Given the description of an element on the screen output the (x, y) to click on. 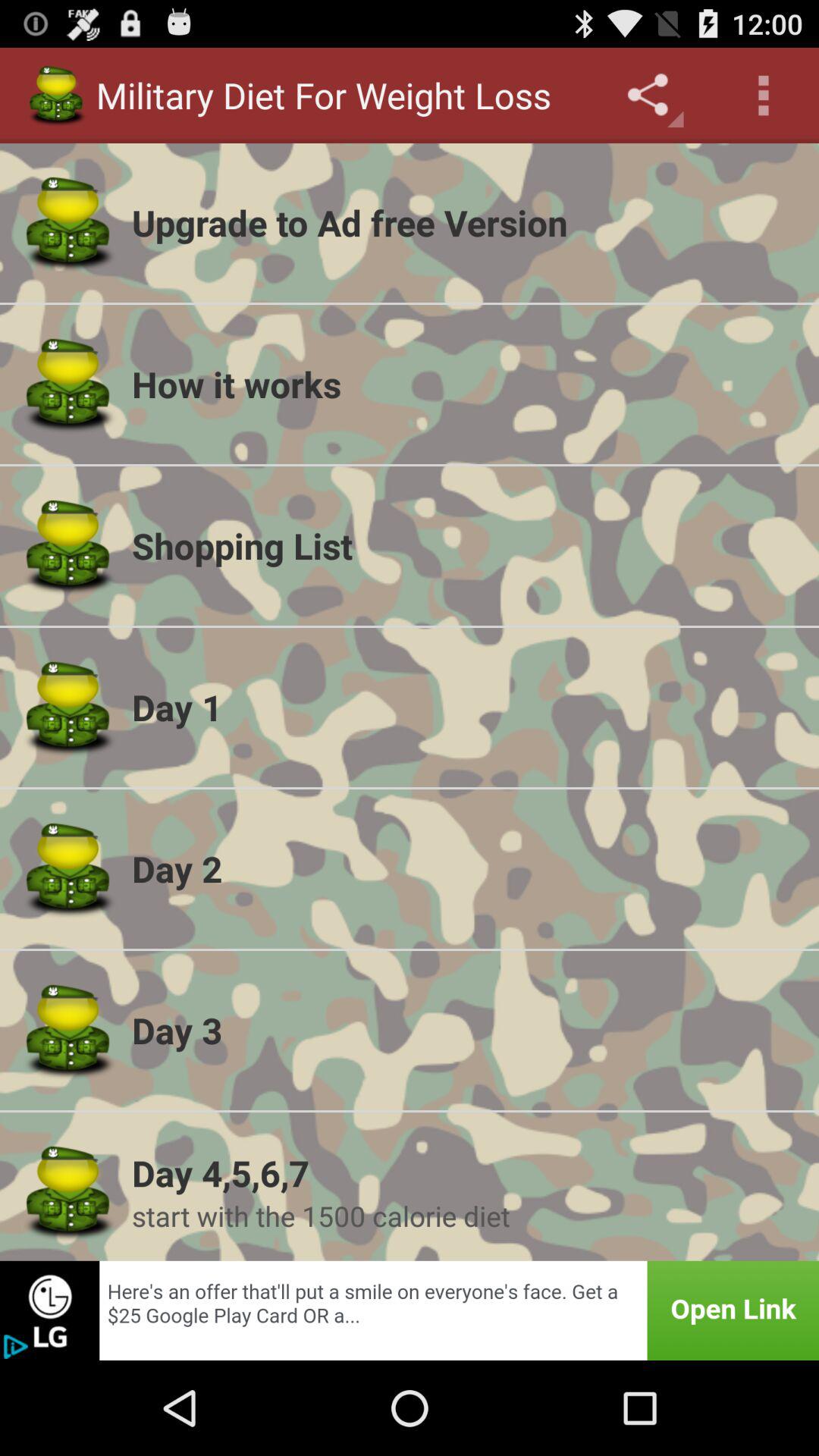
open the item below the shopping list (465, 707)
